Given the description of an element on the screen output the (x, y) to click on. 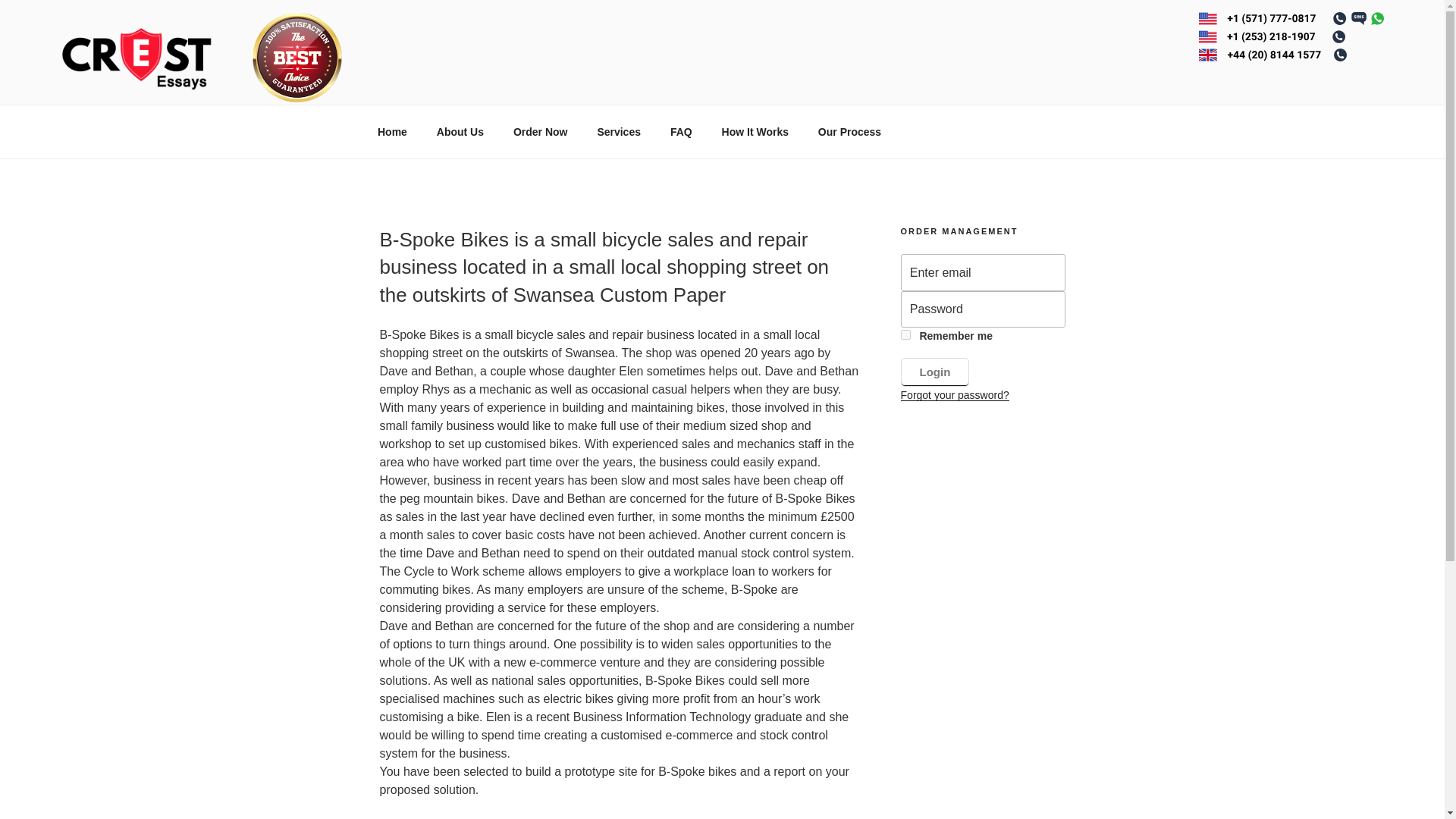
on (906, 334)
Login (935, 371)
About Us (459, 131)
Home (392, 131)
Services (618, 131)
Forgot your password? (955, 395)
click to Login (935, 371)
Recover password (955, 395)
Our Process (849, 131)
How It Works (754, 131)
